Given the description of an element on the screen output the (x, y) to click on. 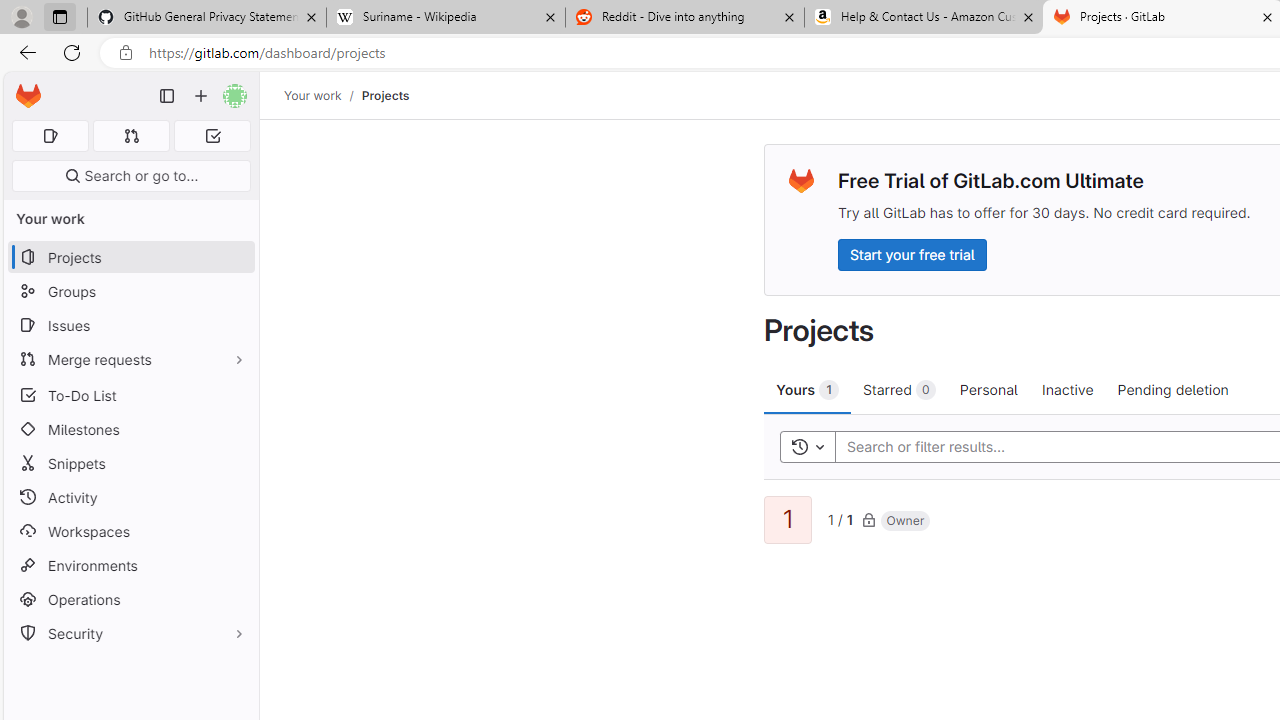
Milestones (130, 429)
To-Do List (130, 394)
Issues (130, 325)
Security (130, 633)
Environments (130, 564)
Issues (130, 325)
Milestones (130, 429)
Activity (130, 497)
Suriname - Wikipedia (445, 17)
Inactive (1067, 389)
Snippets (130, 463)
Groups (130, 291)
Starred 0 (899, 389)
